Given the description of an element on the screen output the (x, y) to click on. 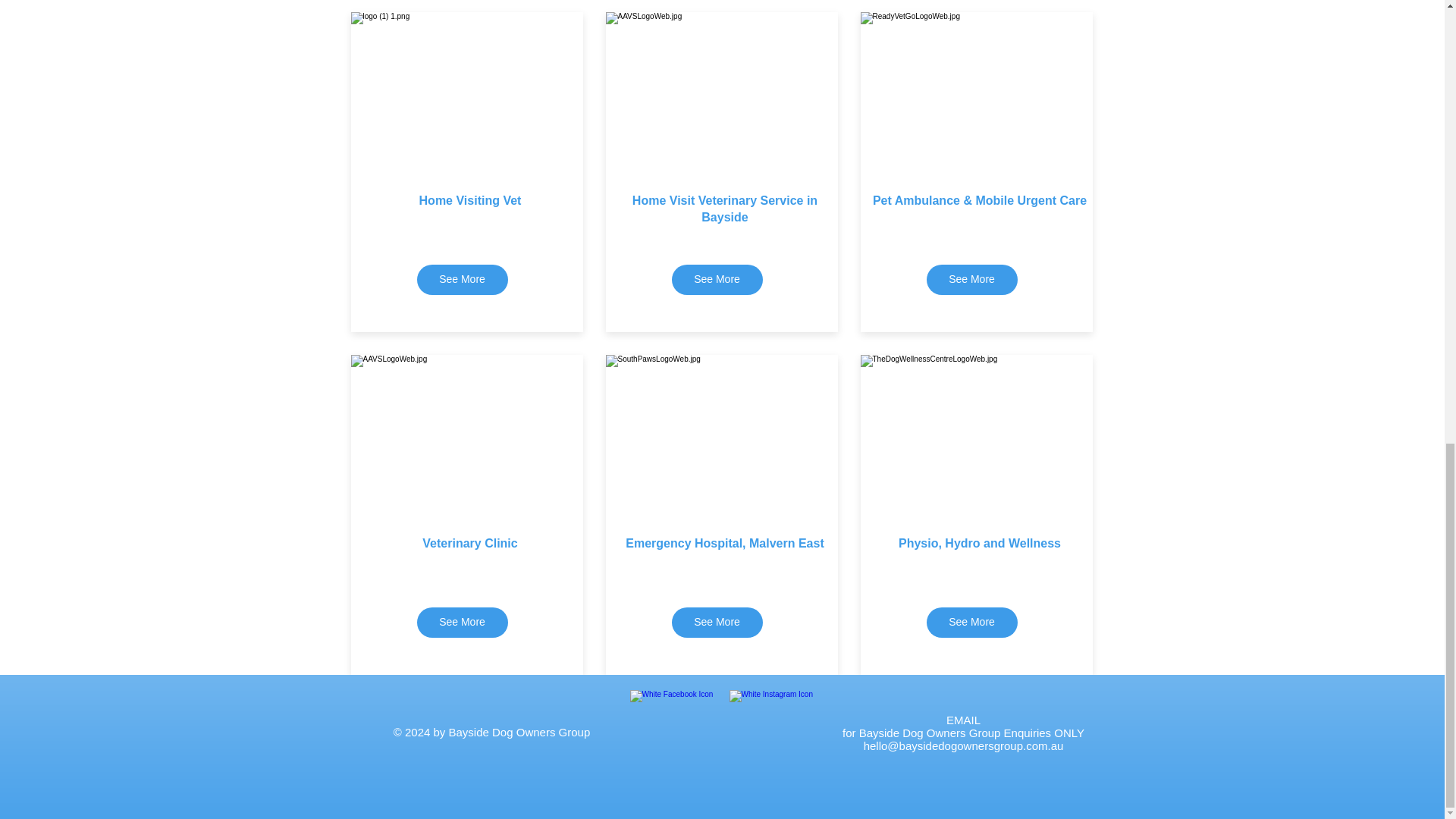
See More (971, 622)
See More (716, 622)
See More (971, 279)
See More (716, 279)
See More (462, 279)
See More (462, 622)
